Given the description of an element on the screen output the (x, y) to click on. 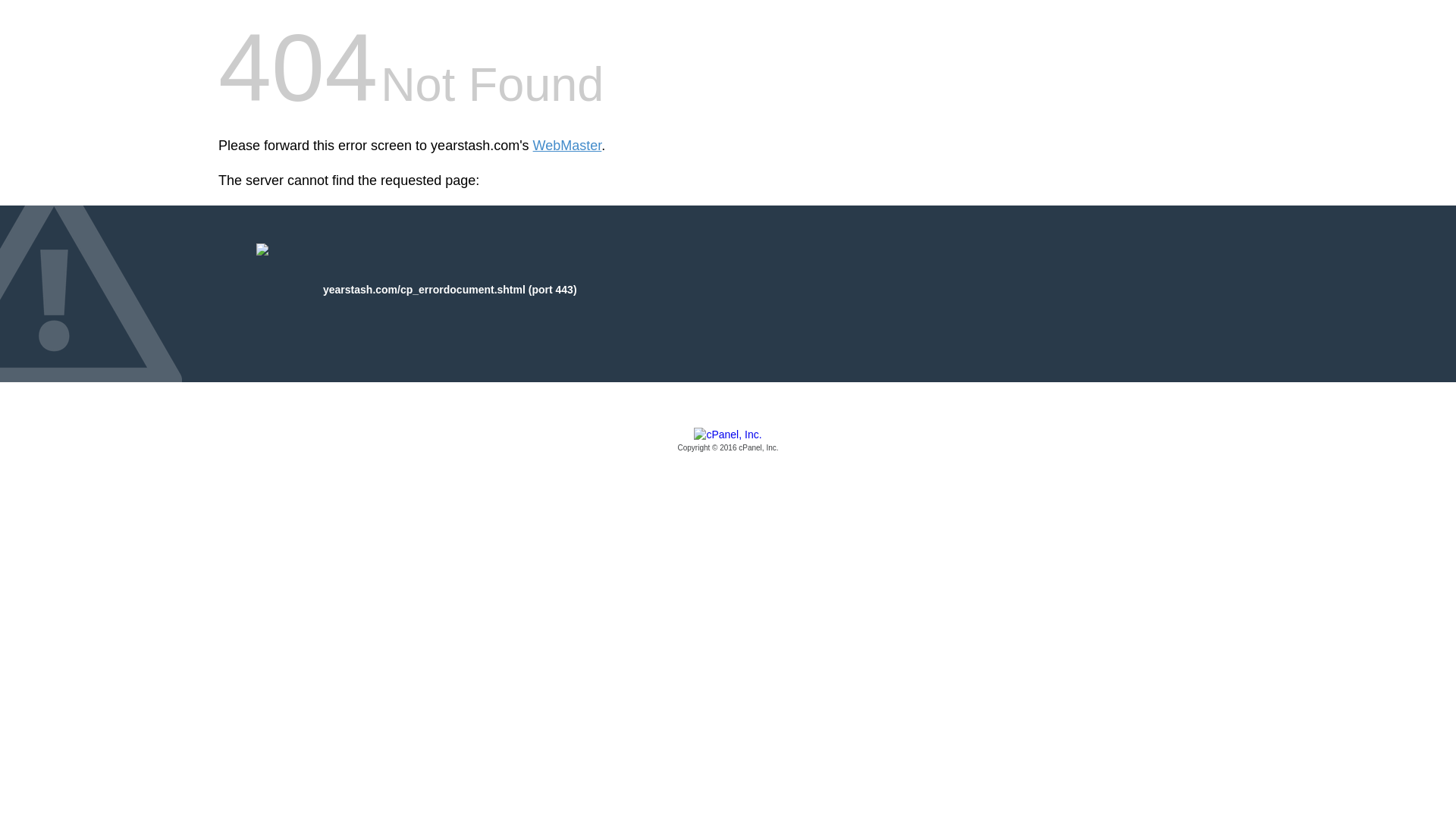
cPanel, Inc. (727, 440)
WebMaster (567, 145)
